Given the description of an element on the screen output the (x, y) to click on. 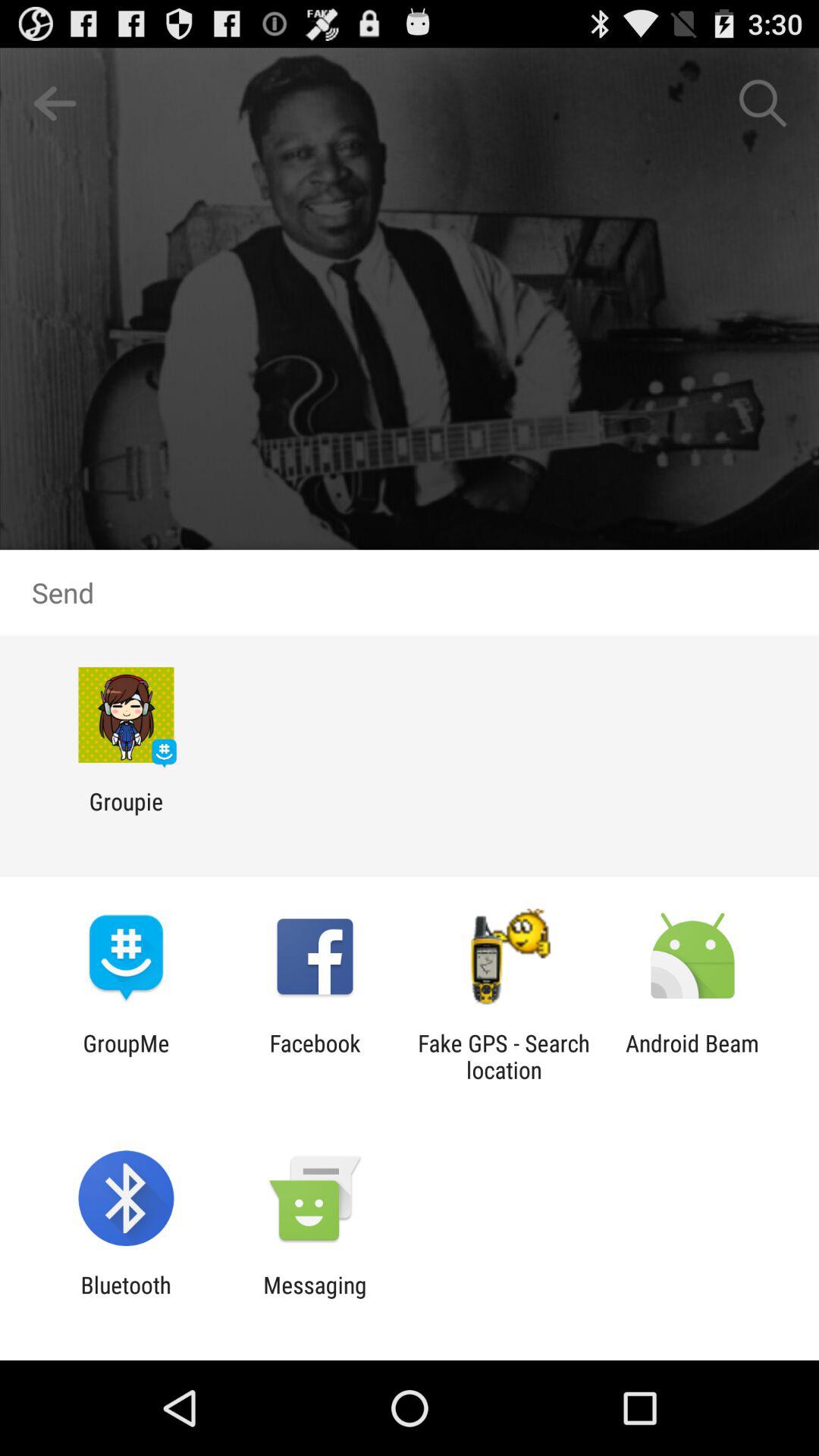
jump until the bluetooth icon (125, 1298)
